Given the description of an element on the screen output the (x, y) to click on. 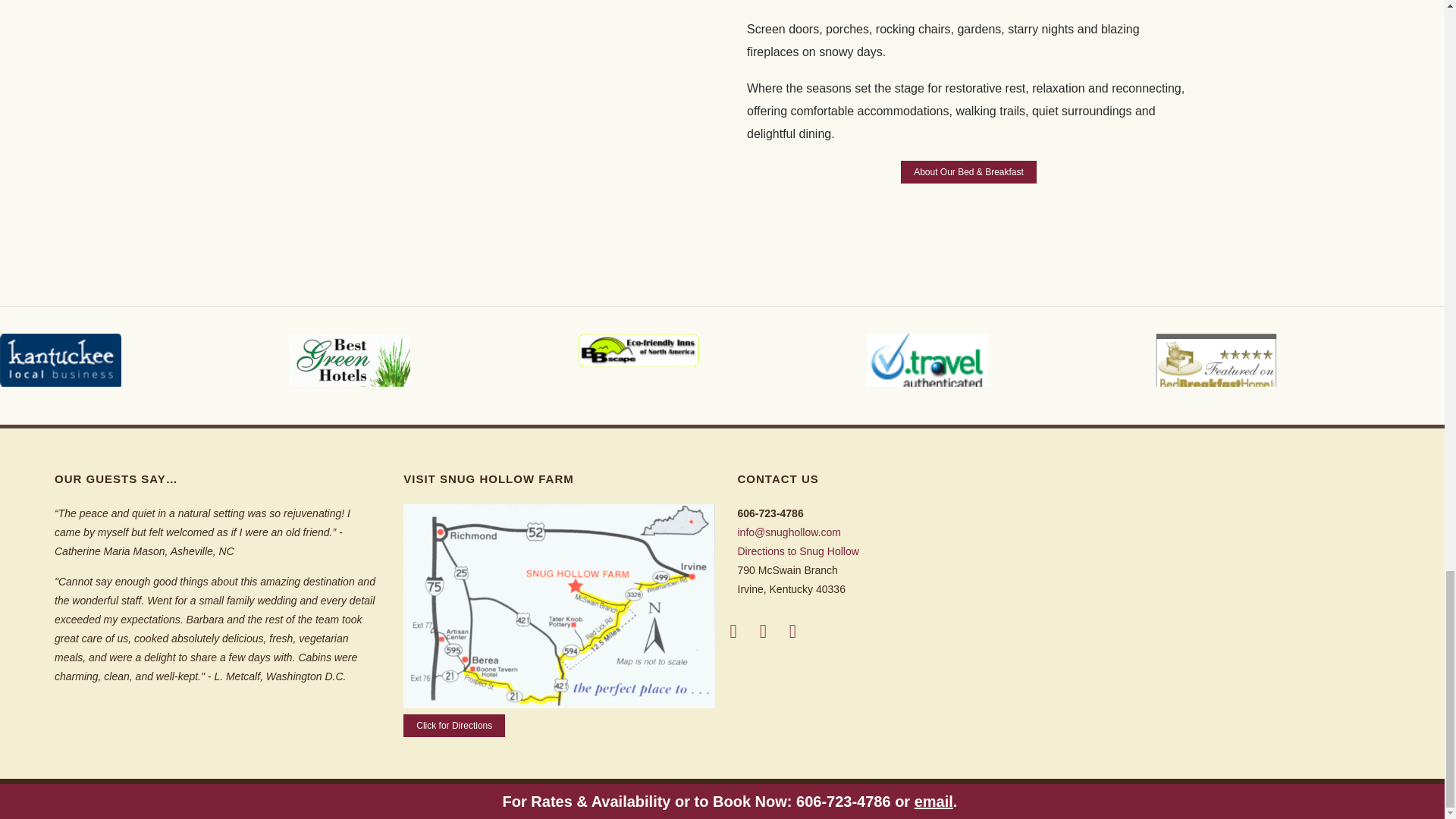
Driving Directions to Snug Hollow (558, 704)
